Given the description of an element on the screen output the (x, y) to click on. 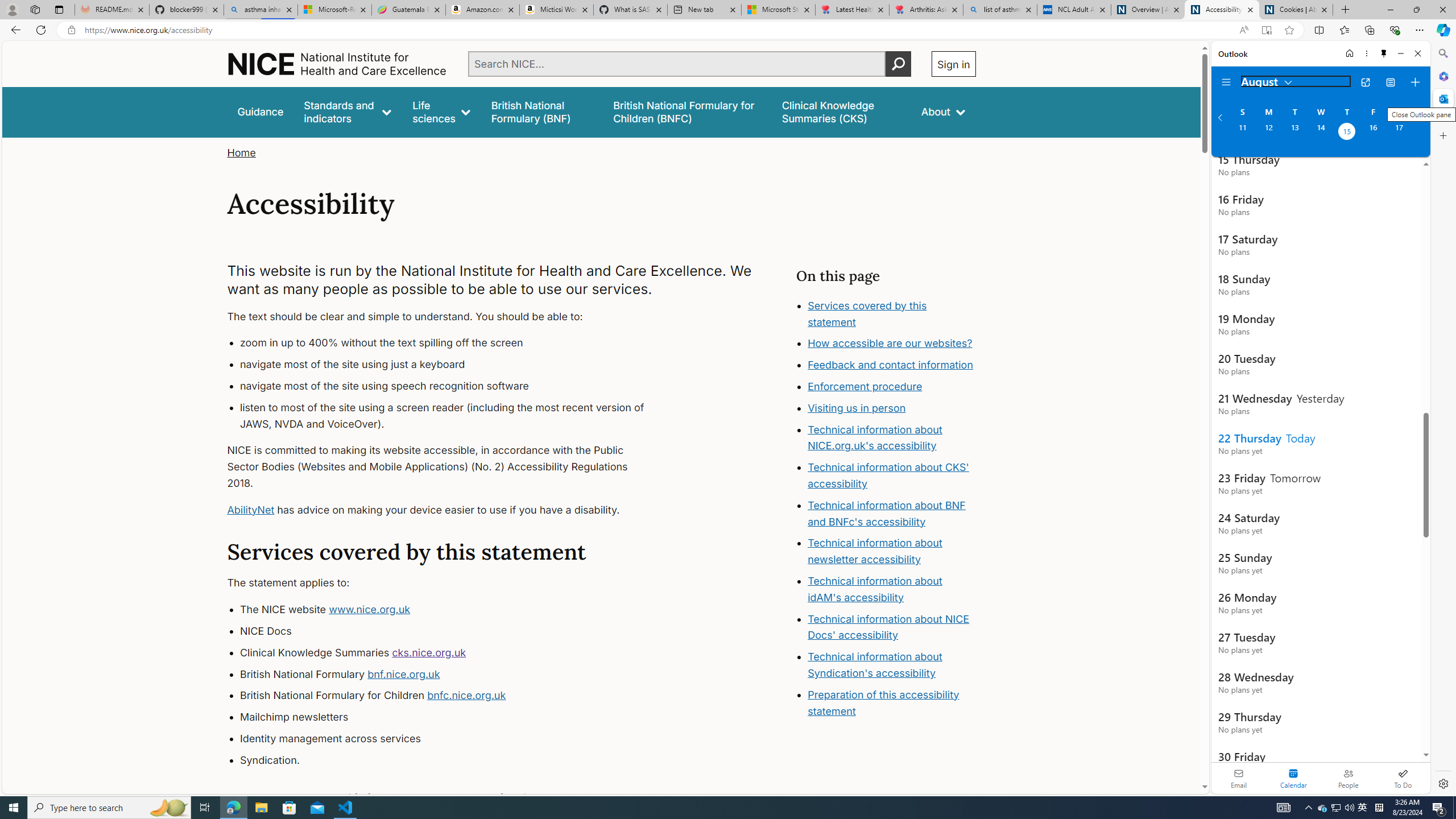
To Do (1402, 777)
Guidance (260, 111)
Cookies | About | NICE (1295, 9)
